Given the description of an element on the screen output the (x, y) to click on. 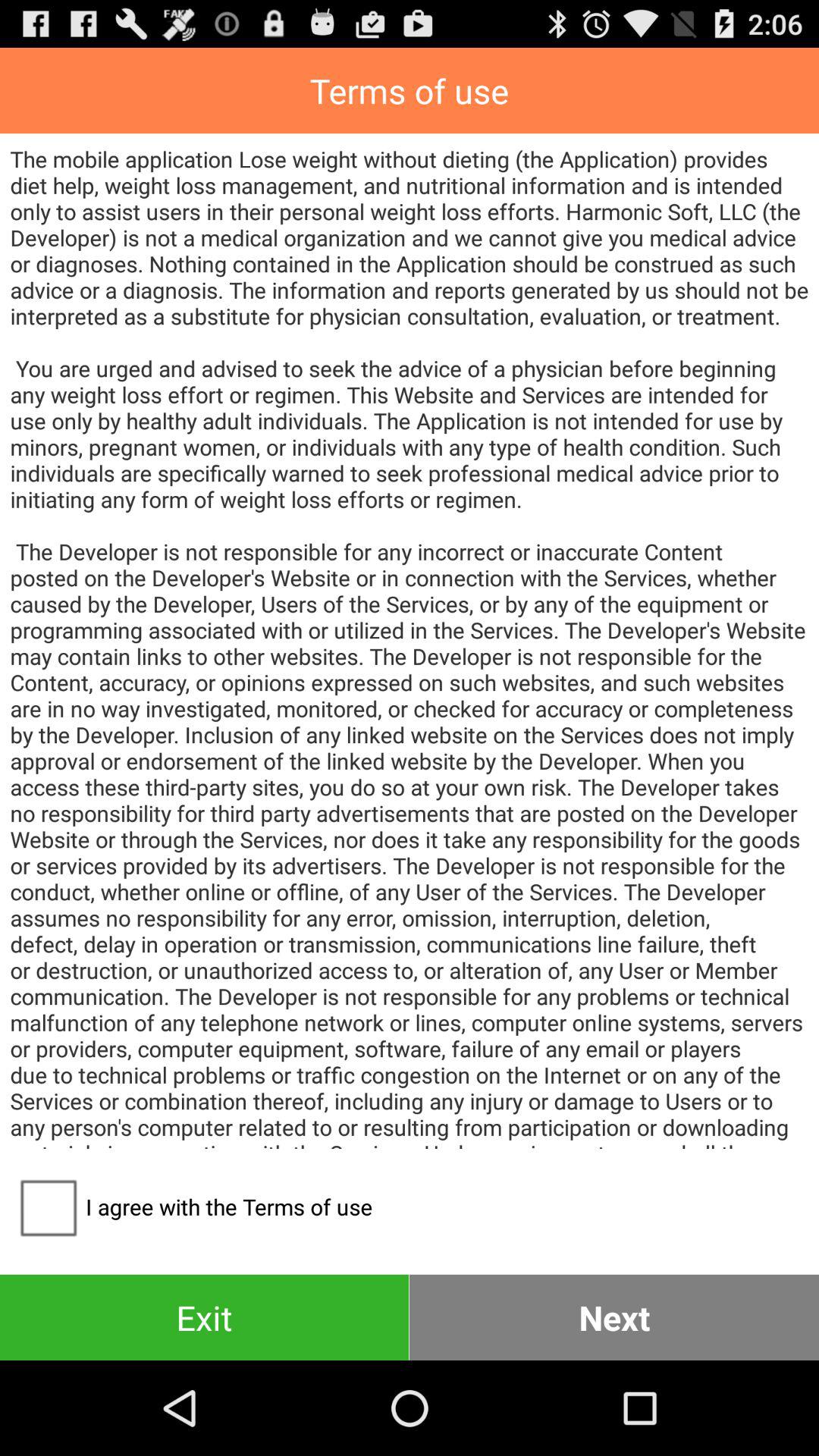
swipe until next (614, 1317)
